Given the description of an element on the screen output the (x, y) to click on. 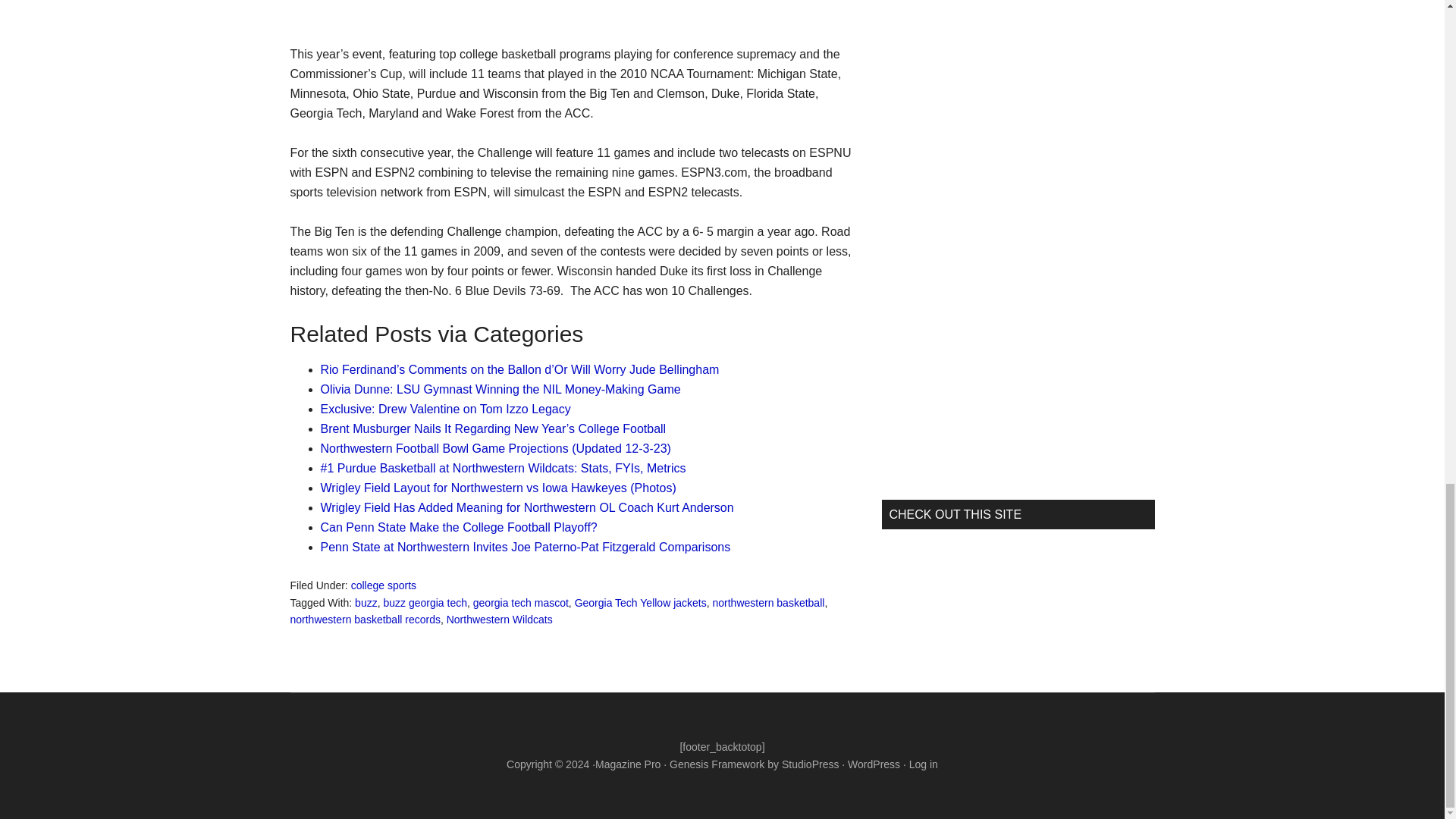
college sports (383, 585)
georgia tech mascot (521, 602)
Olivia Dunne: LSU Gymnast Winning the NIL Money-Making Game (499, 389)
georgiatech (402, 4)
Georgia Tech Yellow jackets (640, 602)
Can Penn State Make the College Football Playoff? (458, 526)
buzz (366, 602)
Exclusive: Drew Valentine on Tom Izzo Legacy (445, 408)
buzz georgia tech (424, 602)
Exclusive: Drew Valentine on Tom Izzo Legacy (445, 408)
Olivia Dunne: LSU Gymnast Winning the NIL Money-Making Game (499, 389)
